Given the description of an element on the screen output the (x, y) to click on. 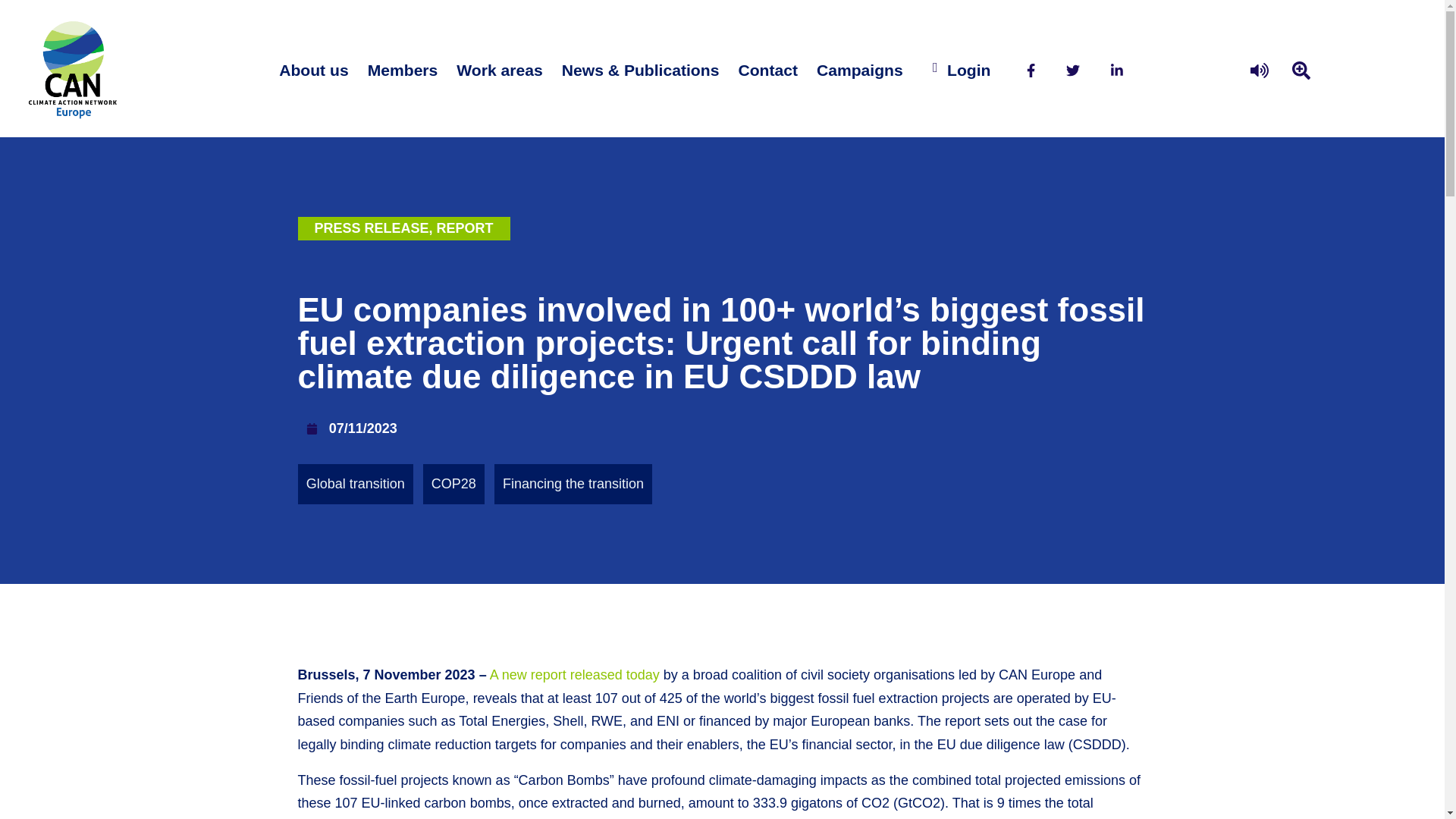
Work areas (498, 70)
Members (402, 70)
Login (967, 70)
About us (312, 70)
Contact (767, 70)
Campaigns (860, 70)
